Given the description of an element on the screen output the (x, y) to click on. 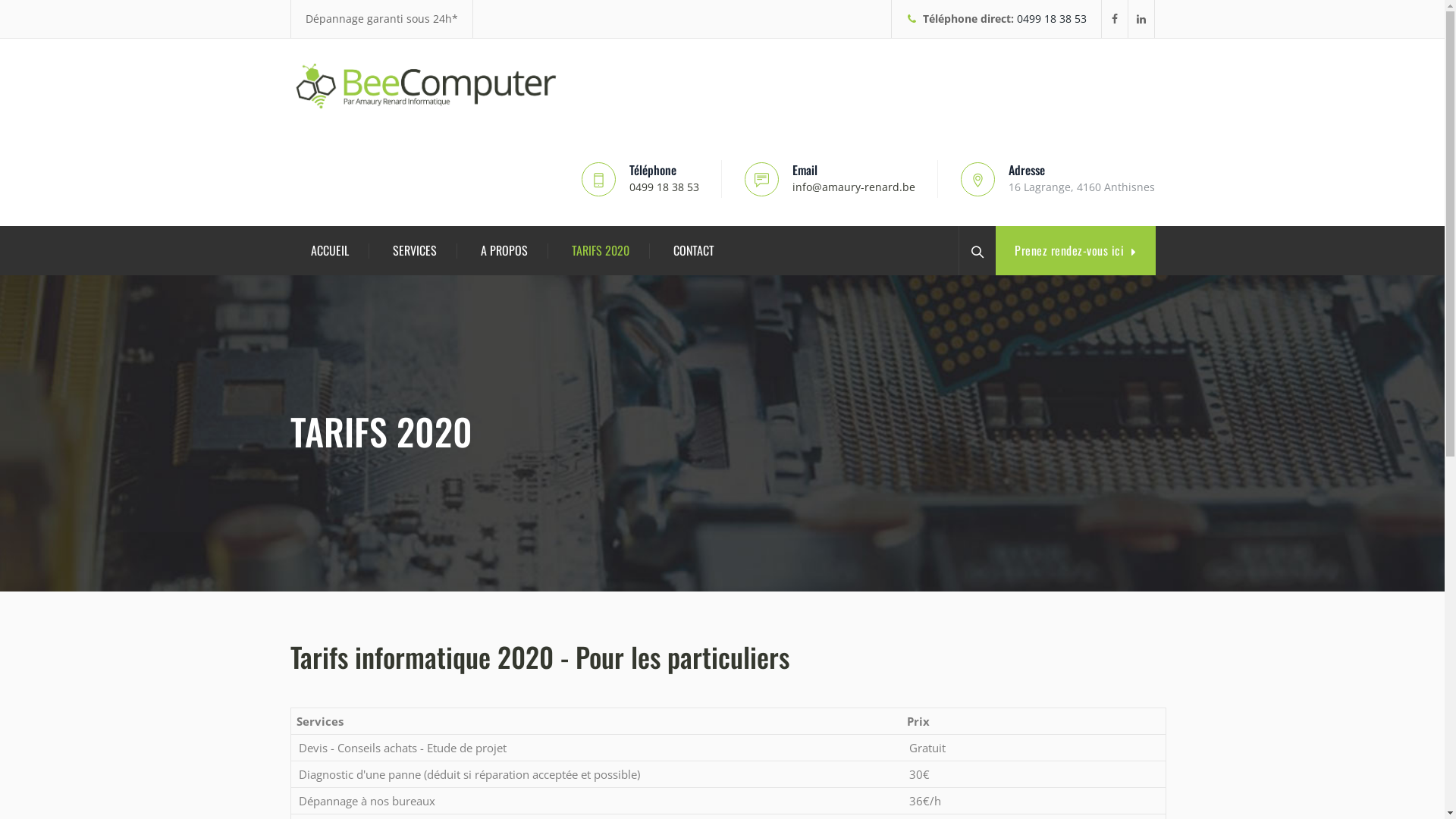
TARIFS 2020 Element type: text (600, 250)
0499 18 38 53 Element type: text (1050, 18)
Prenez rendez-vous ici Element type: text (1075, 250)
CONTACT Element type: text (693, 250)
ACCUEIL Element type: text (329, 250)
A PROPOS Element type: text (503, 250)
SERVICES Element type: text (414, 250)
info@amaury-renard.be Element type: text (852, 186)
0499 18 38 53 Element type: text (664, 186)
